Given the description of an element on the screen output the (x, y) to click on. 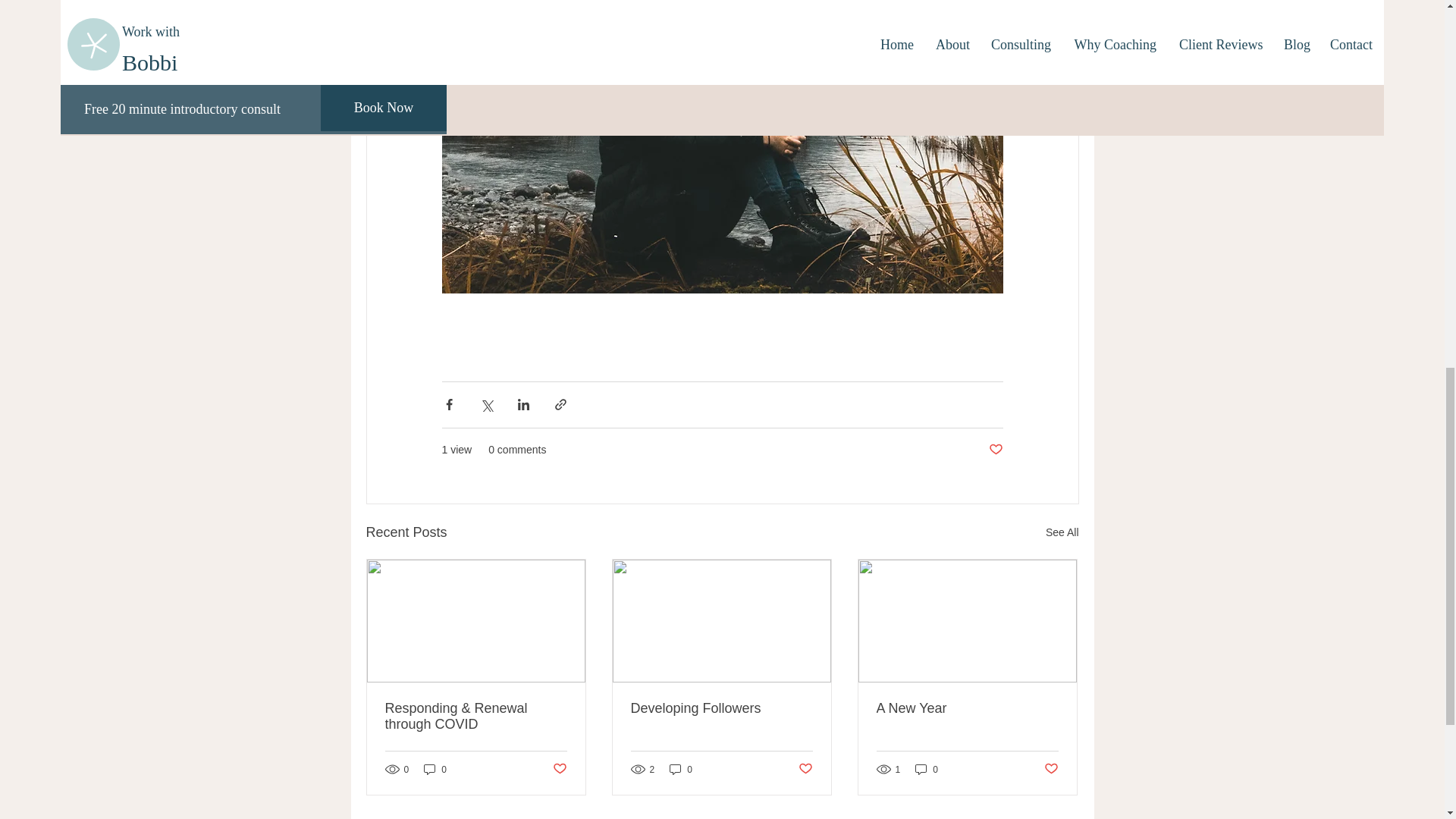
Post not marked as liked (558, 769)
Post not marked as liked (995, 449)
Post not marked as liked (804, 769)
A New Year (967, 708)
Post not marked as liked (1050, 769)
0 (926, 769)
0 (681, 769)
0 (435, 769)
See All (1061, 532)
Developing Followers (721, 708)
